Given the description of an element on the screen output the (x, y) to click on. 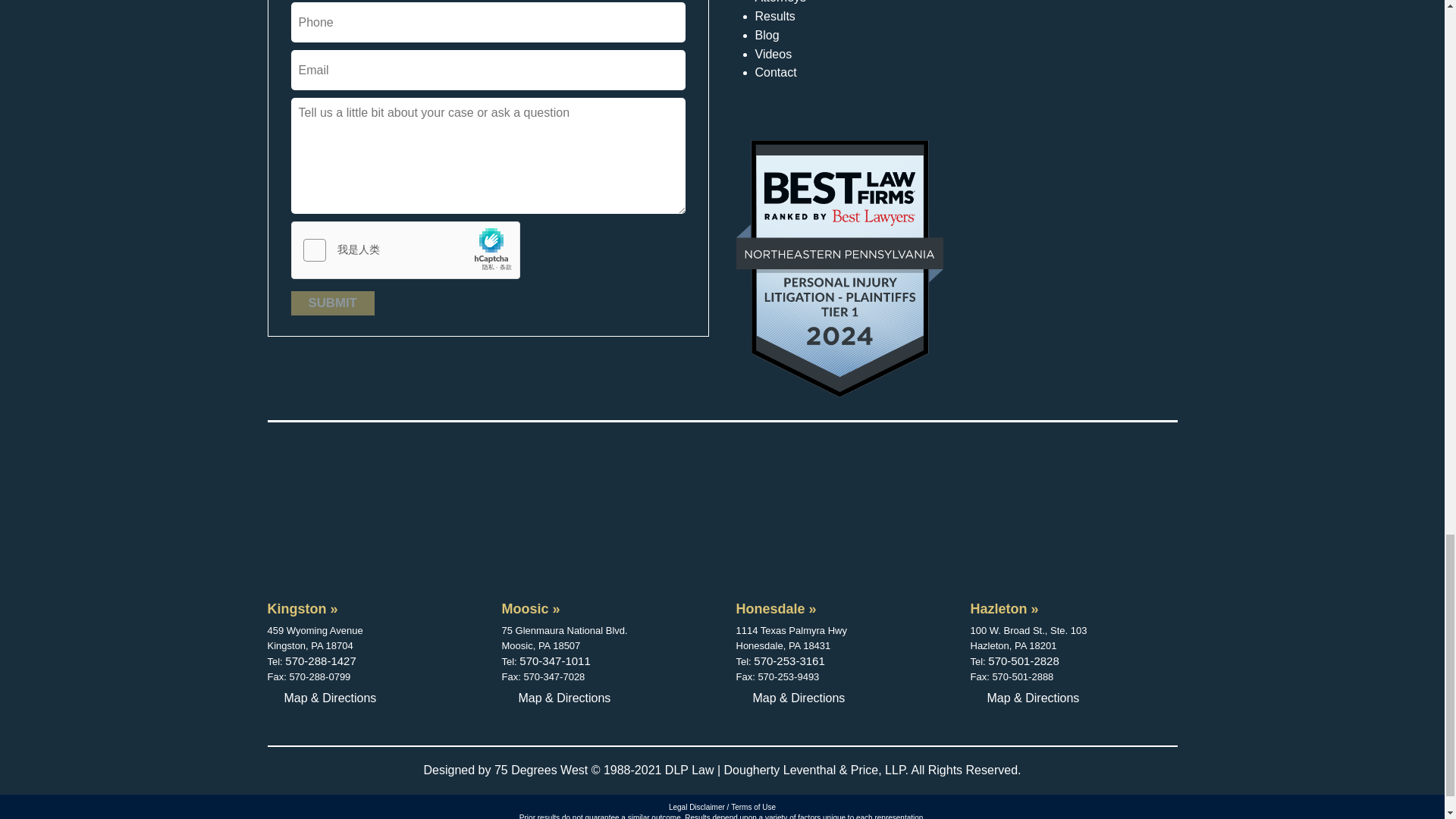
Results (774, 19)
Videos (773, 57)
Contact (775, 76)
Blog (766, 38)
Attorneys (780, 5)
